Given the description of an element on the screen output the (x, y) to click on. 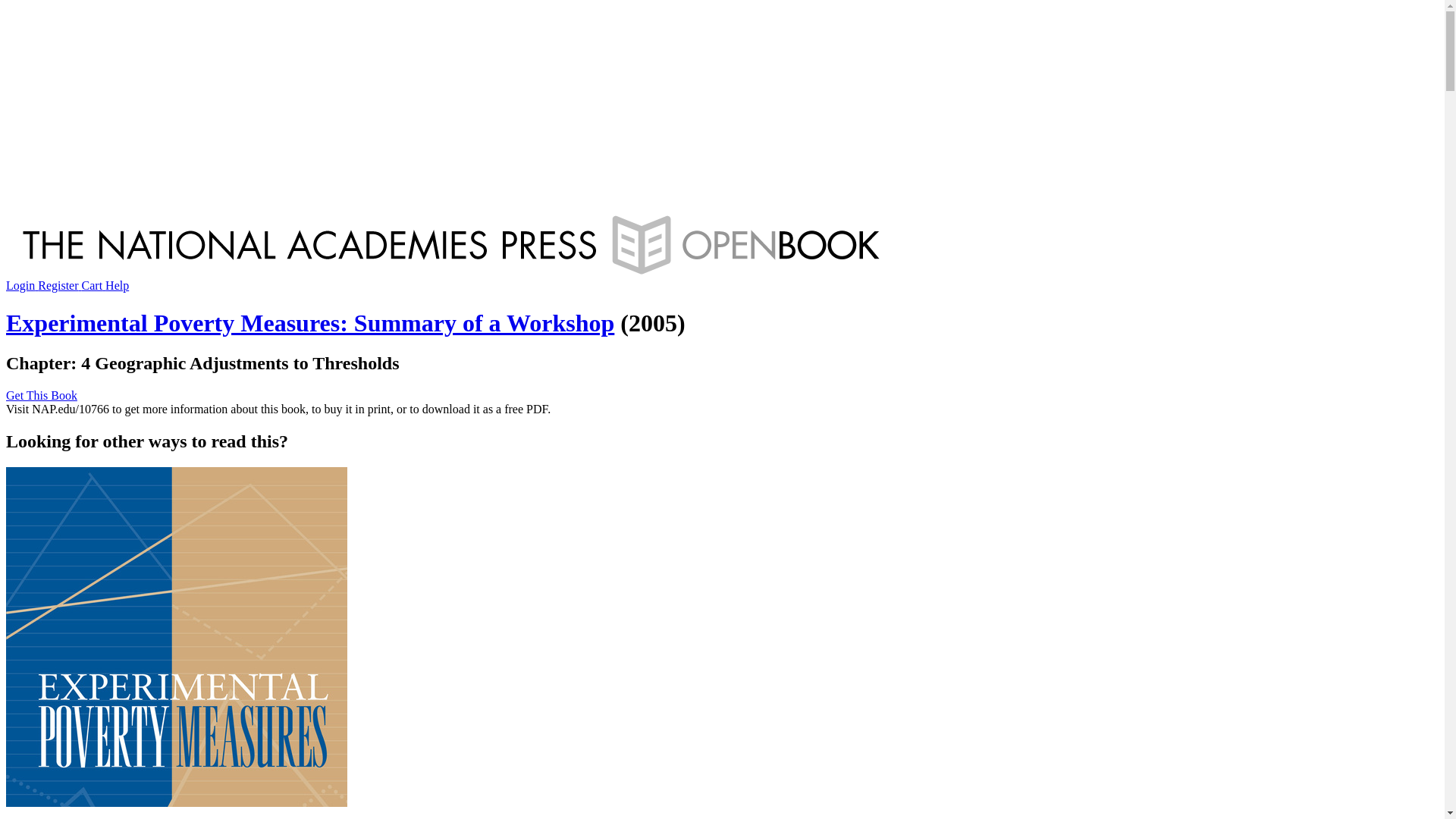
Help (116, 285)
Login (21, 285)
Get This Book (41, 395)
Register (59, 285)
Cart (93, 285)
Experimental Poverty Measures: Summary of a Workshop (309, 322)
